Given the description of an element on the screen output the (x, y) to click on. 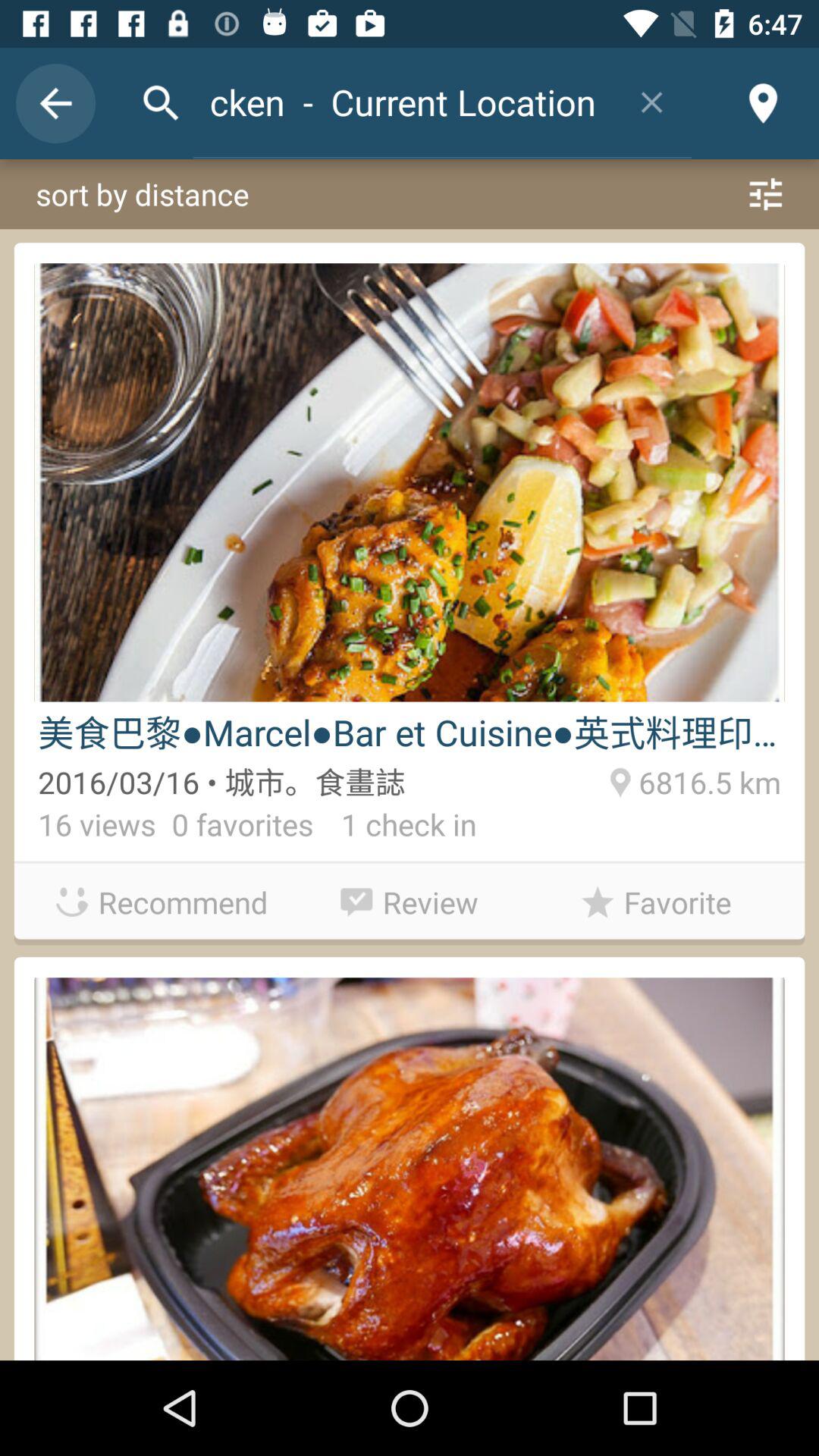
press sort by distance (409, 194)
